Given the description of an element on the screen output the (x, y) to click on. 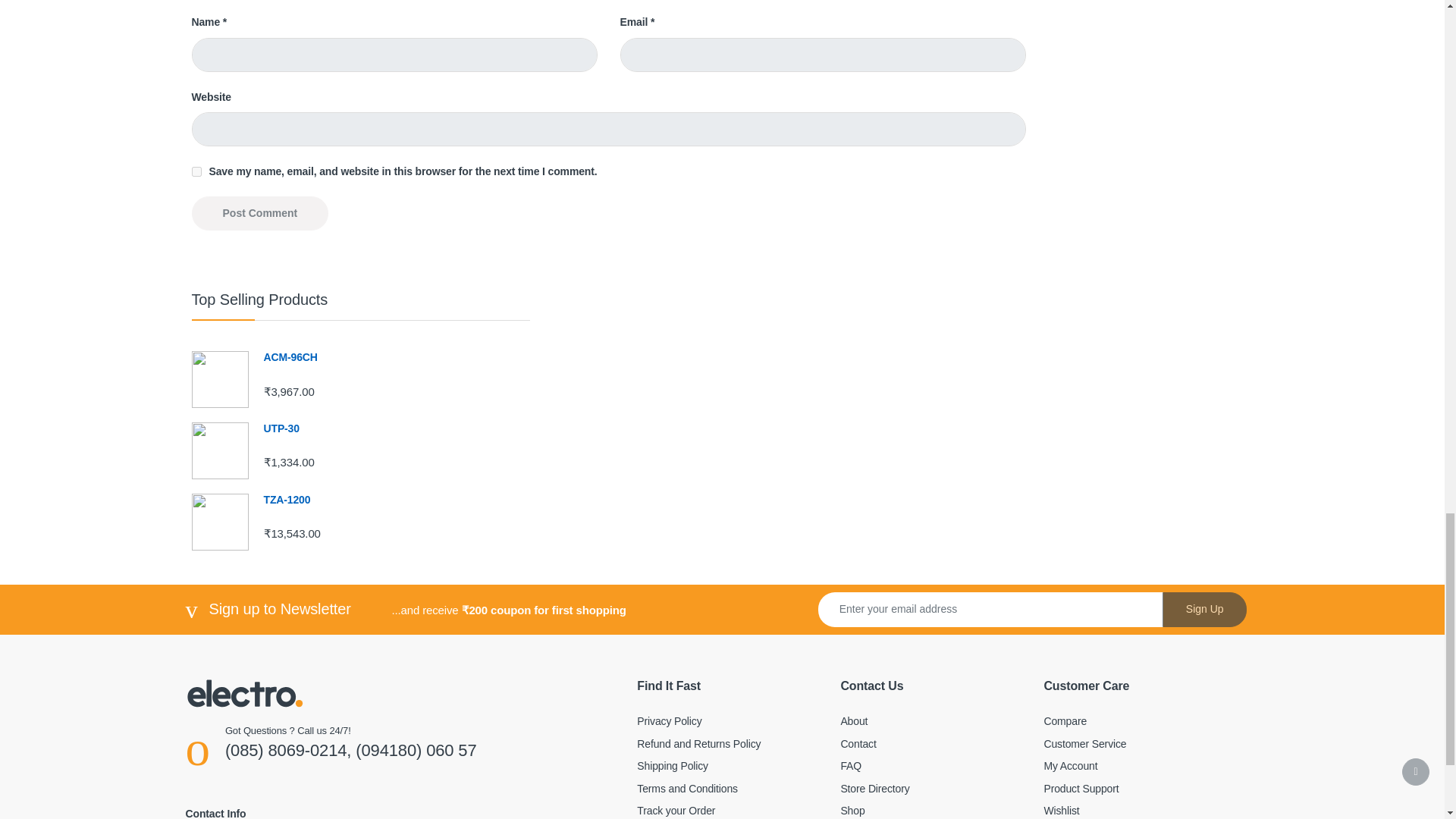
yes (195, 171)
Post Comment (259, 213)
